Given the description of an element on the screen output the (x, y) to click on. 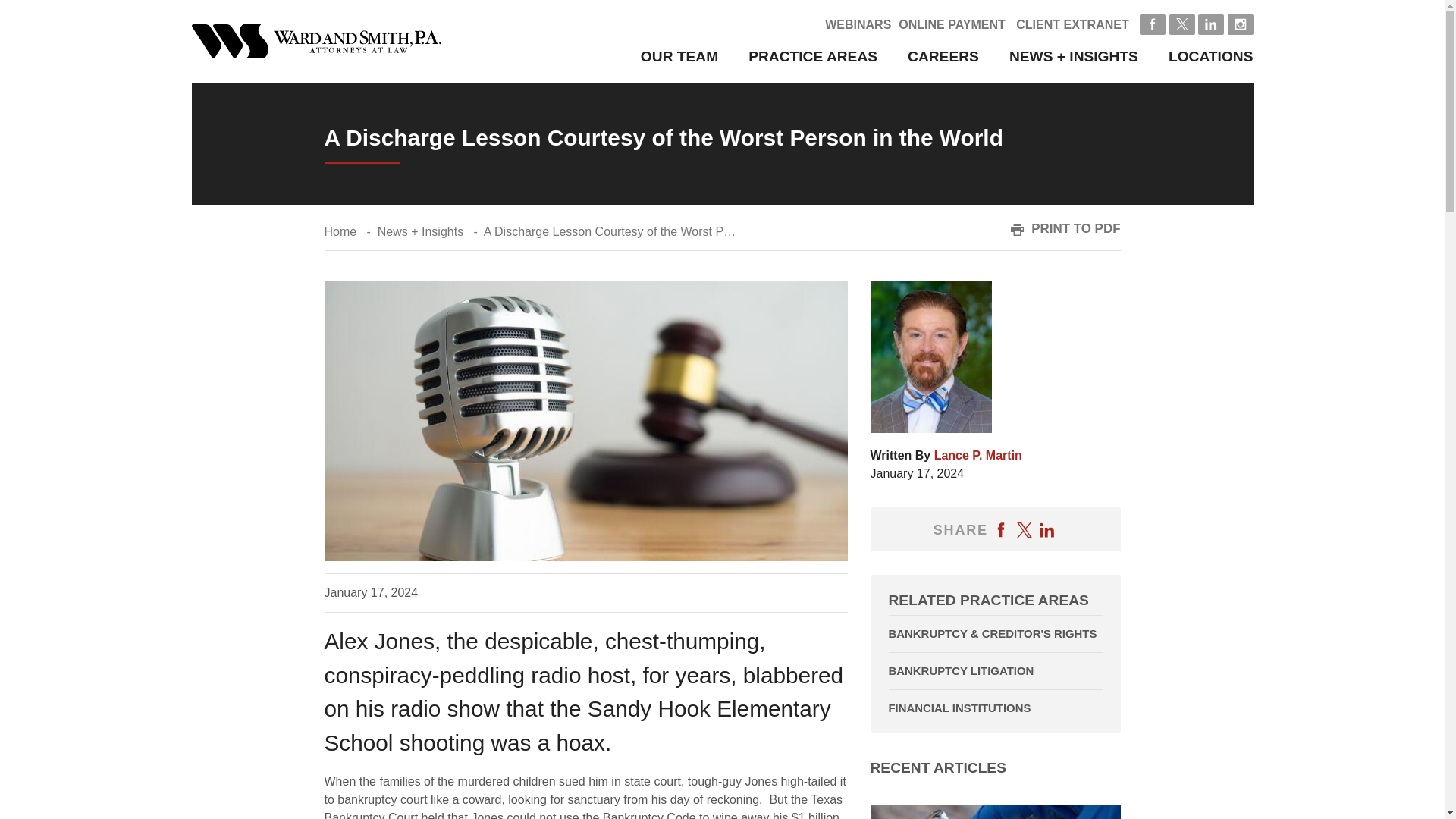
OUR TEAM (678, 56)
ONLINE PAYMENT (951, 24)
CAREERS (942, 56)
Home (340, 231)
LOCATIONS (1211, 56)
Lance P. Martin (978, 454)
PRACTICE AREAS (812, 56)
FINANCIAL INSTITUTIONS (995, 707)
WEBINARS (858, 24)
BANKRUPTCY LITIGATION (995, 671)
Share on Facebook (1000, 529)
PRINT TO PDF (1064, 228)
Share on Twitter (1024, 529)
Share on LinkedIn (1046, 529)
